Given the description of an element on the screen output the (x, y) to click on. 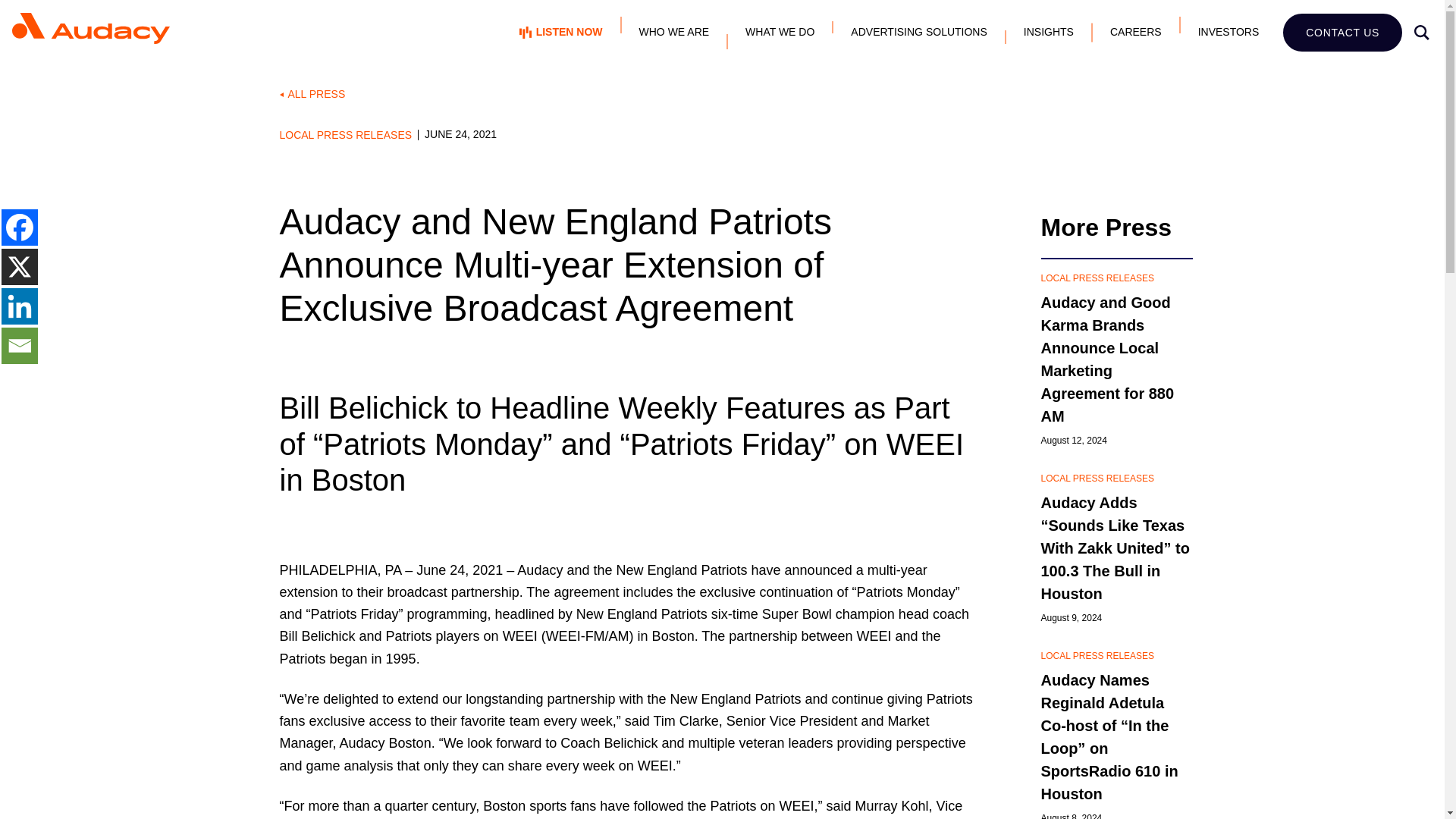
INSIGHTS (1049, 32)
Facebook (19, 227)
CAREERS (1135, 32)
Linkedin (19, 306)
ALL PRESS (721, 94)
CONTACT US (1342, 32)
X (19, 266)
Email (19, 345)
LOCAL PRESS RELEASES (349, 133)
WHAT WE DO (779, 32)
